Given the description of an element on the screen output the (x, y) to click on. 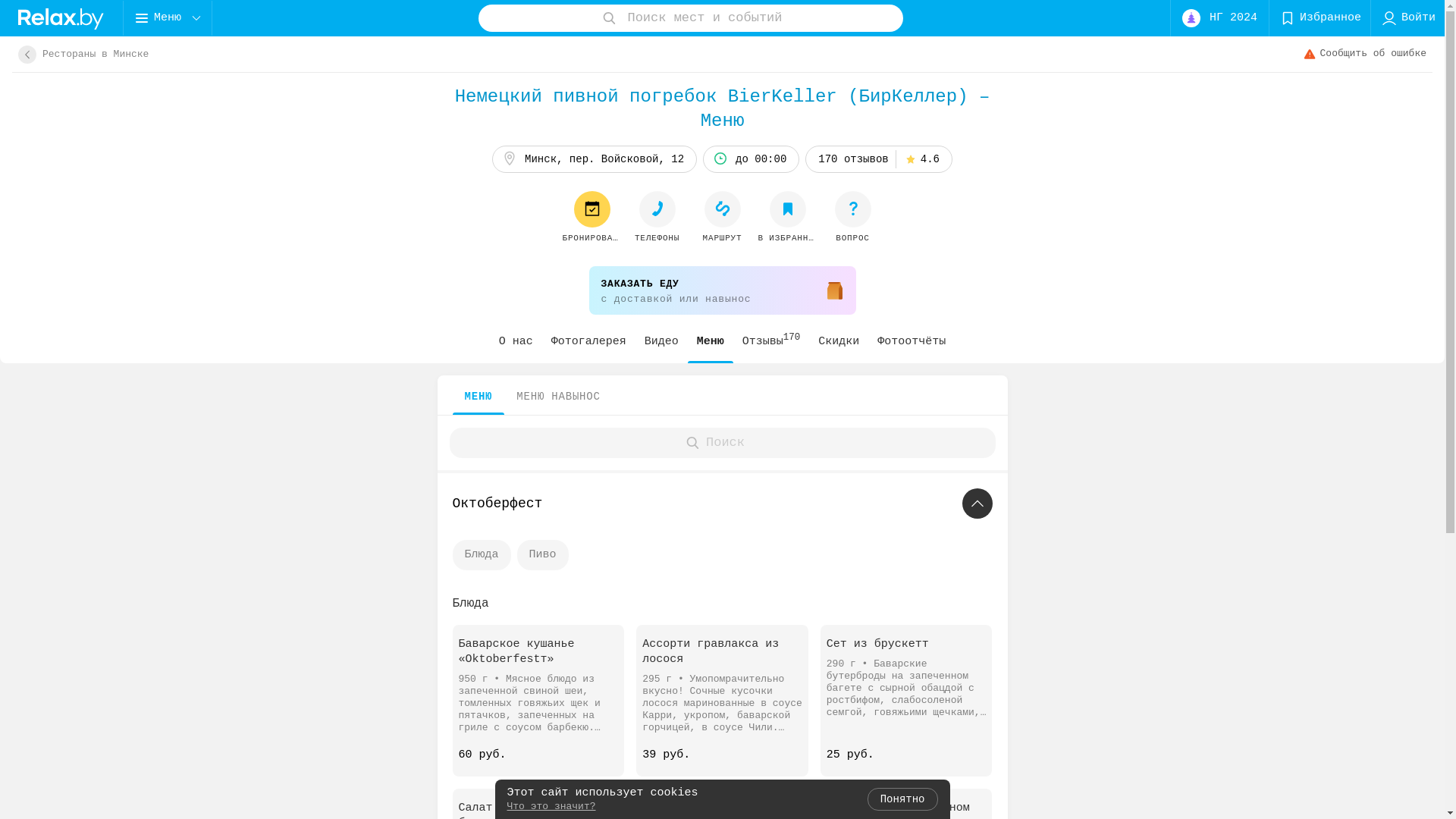
logo Element type: hover (61, 18)
